Given the description of an element on the screen output the (x, y) to click on. 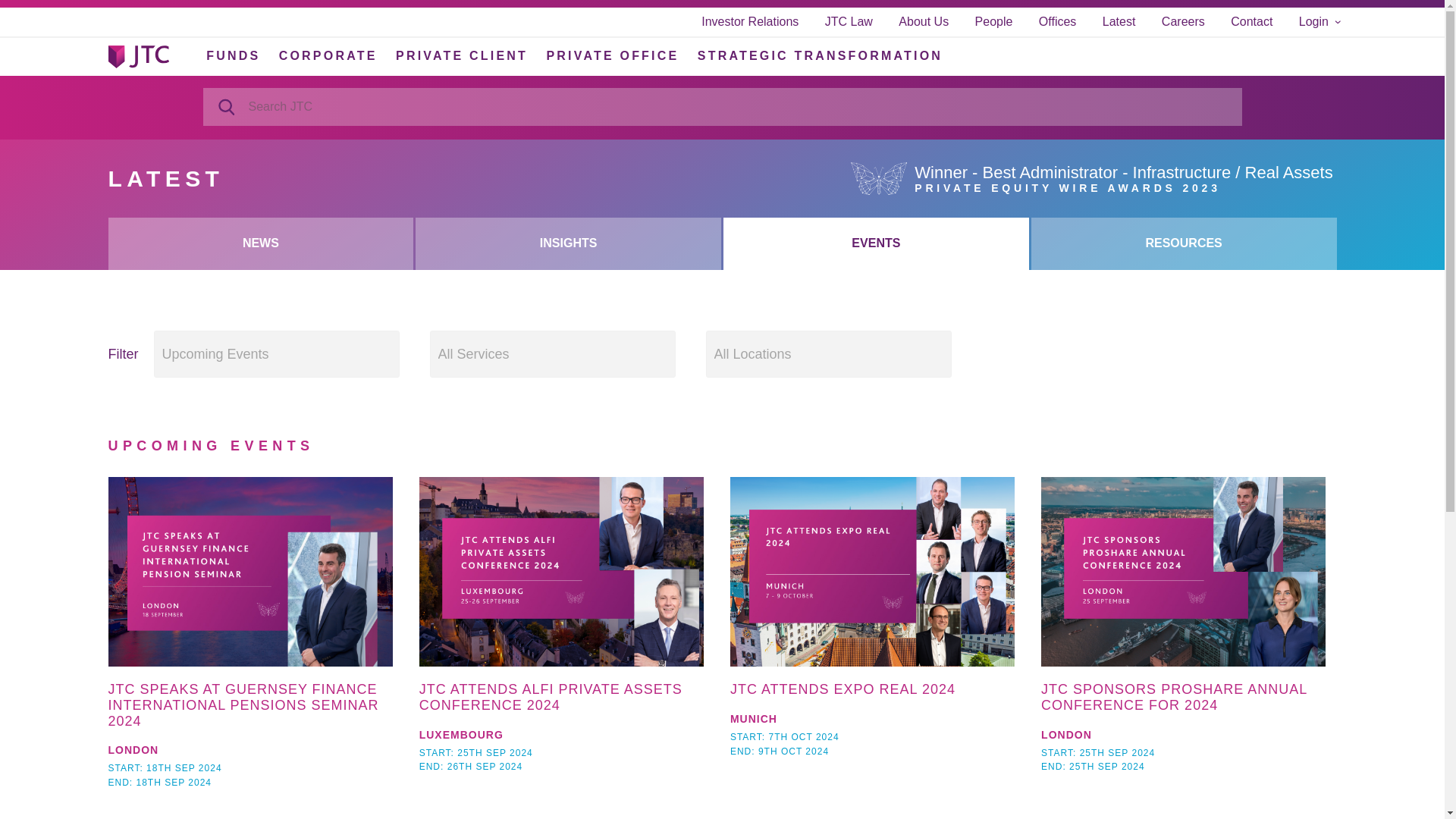
People (994, 21)
Careers (1183, 21)
CORPORATE (328, 55)
Login (1318, 21)
Latest (1118, 21)
About Us (923, 21)
FUNDS (233, 55)
JTC Law (848, 21)
Investor Relations (749, 21)
Return to the homepage (137, 56)
Contact (1251, 21)
Offices (1058, 21)
STRATEGIC TRANSFORMATION (819, 55)
PRIVATE OFFICE (612, 55)
NEWS (260, 243)
